Given the description of an element on the screen output the (x, y) to click on. 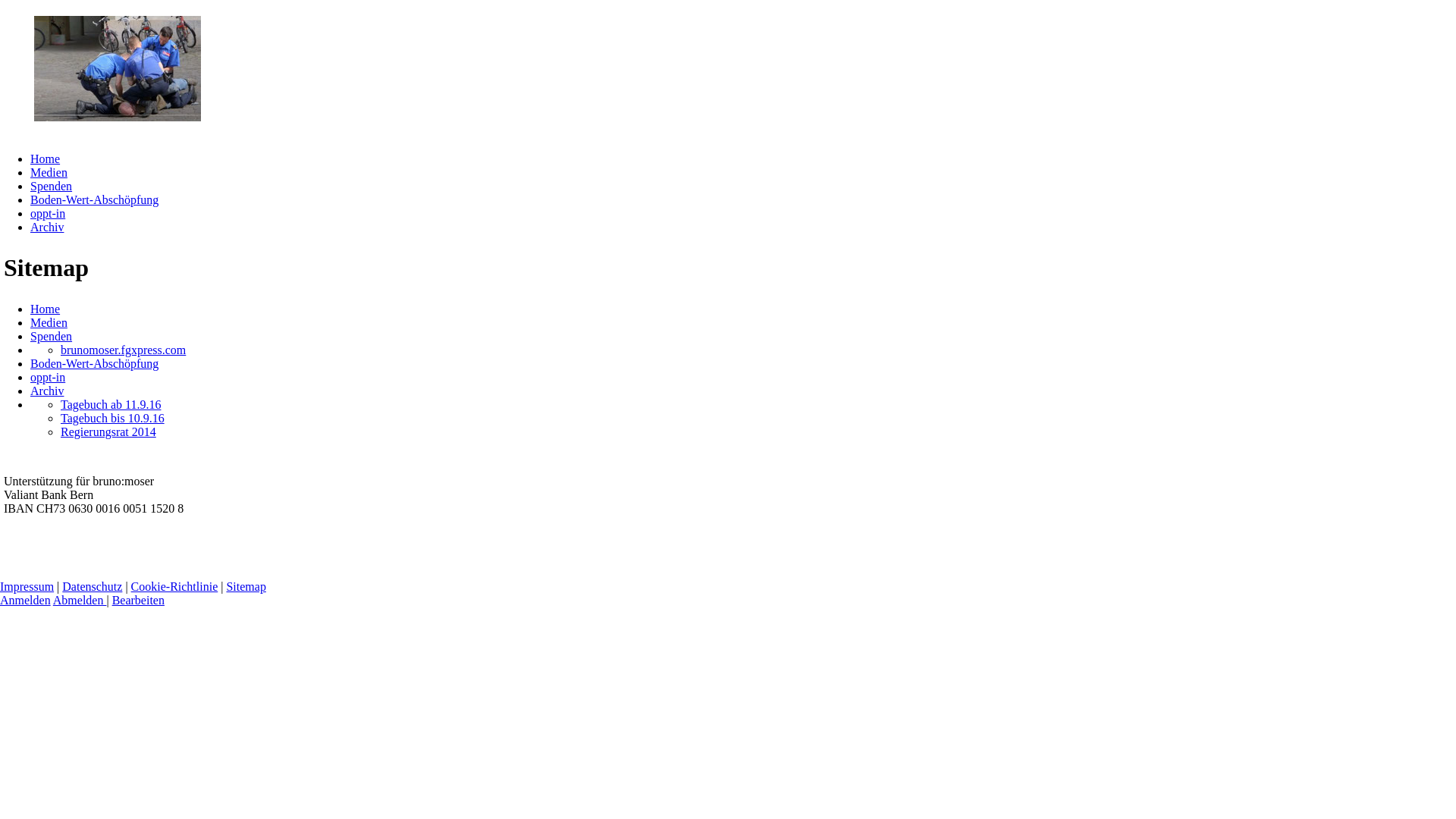
Tagebuch bis 10.9.16 Element type: text (112, 417)
Medien Element type: text (48, 322)
Home Element type: text (44, 158)
Anmelden Element type: text (25, 599)
Abmelden Element type: text (79, 599)
Spenden Element type: text (51, 185)
oppt-in Element type: text (47, 213)
Medien Element type: text (48, 172)
Regierungsrat 2014 Element type: text (108, 431)
brunomoser.fgxpress.com Element type: text (122, 349)
Bearbeiten Element type: text (138, 599)
Datenschutz Element type: text (92, 586)
Spenden Element type: text (51, 335)
oppt-in Element type: text (47, 376)
Archiv Element type: text (46, 226)
Sitemap Element type: text (245, 586)
Home Element type: text (44, 308)
Archiv Element type: text (46, 390)
Impressum Element type: text (26, 586)
Cookie-Richtlinie Element type: text (174, 586)
Tagebuch ab 11.9.16 Element type: text (110, 404)
